Given the description of an element on the screen output the (x, y) to click on. 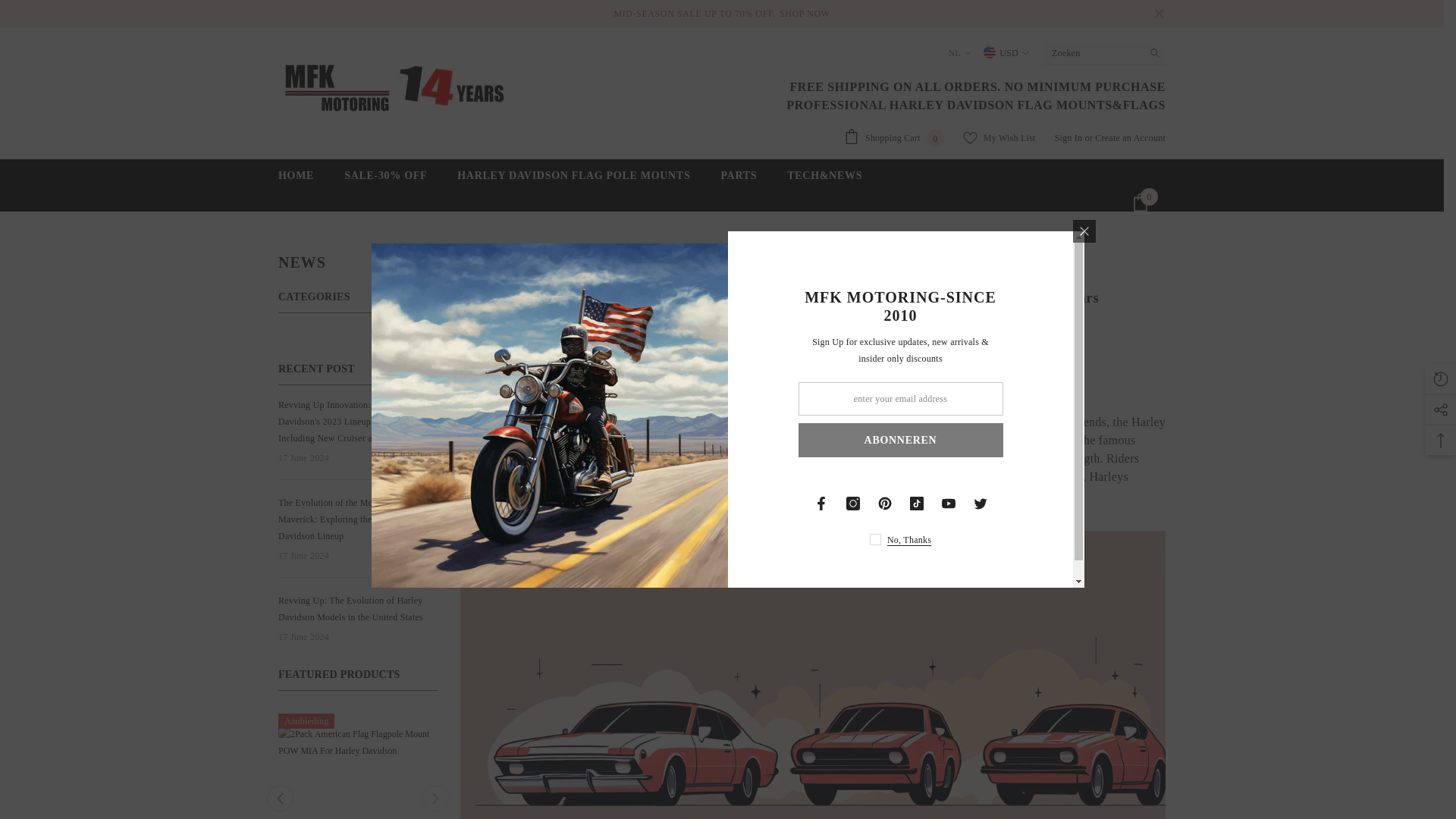
Create an Account (1130, 137)
My Wish List (998, 137)
NL (957, 53)
HOME (296, 180)
Close (1159, 13)
Sign In (1068, 137)
SHOP NOW (893, 138)
